Given the description of an element on the screen output the (x, y) to click on. 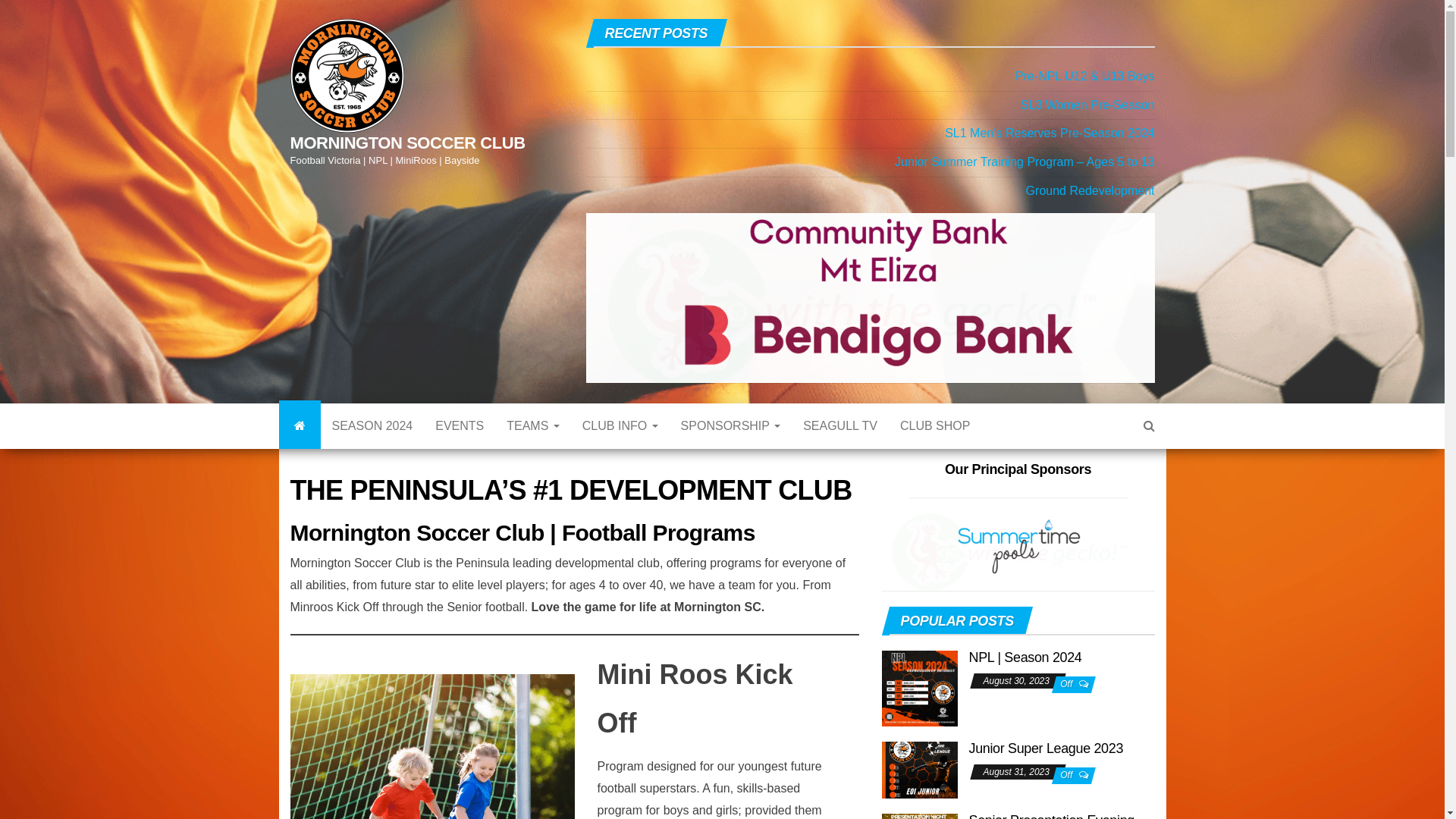
Pre-NPL U12 & U13 Boys Element type: text (1084, 75)
EVENTS Element type: text (459, 447)
NPL | Season 2024 Element type: text (1025, 685)
TEAMS Element type: text (533, 447)
NPL | Season 2024 Element type: hover (919, 701)
SEAGULL TV Element type: text (839, 447)
SPONSORSHIP Element type: text (730, 447)
Junior Super League 2023 Element type: hover (919, 779)
Junior Super League 2023 Element type: hover (919, 779)
CLUB INFO Element type: text (620, 447)
SEASON 2024 Element type: text (371, 447)
Ground Redevelopment Element type: text (1090, 190)
MORNINGTON SOCCER CLUB Element type: text (406, 142)
CLUB SHOP Element type: text (934, 447)
NPL | Season 2024 Element type: hover (919, 702)
MORNINGTON SOCCER CLUB Element type: hover (299, 447)
Junior Super League 2023 Element type: text (1046, 776)
SL3 Women Pre-Season Element type: text (1087, 104)
